Given the description of an element on the screen output the (x, y) to click on. 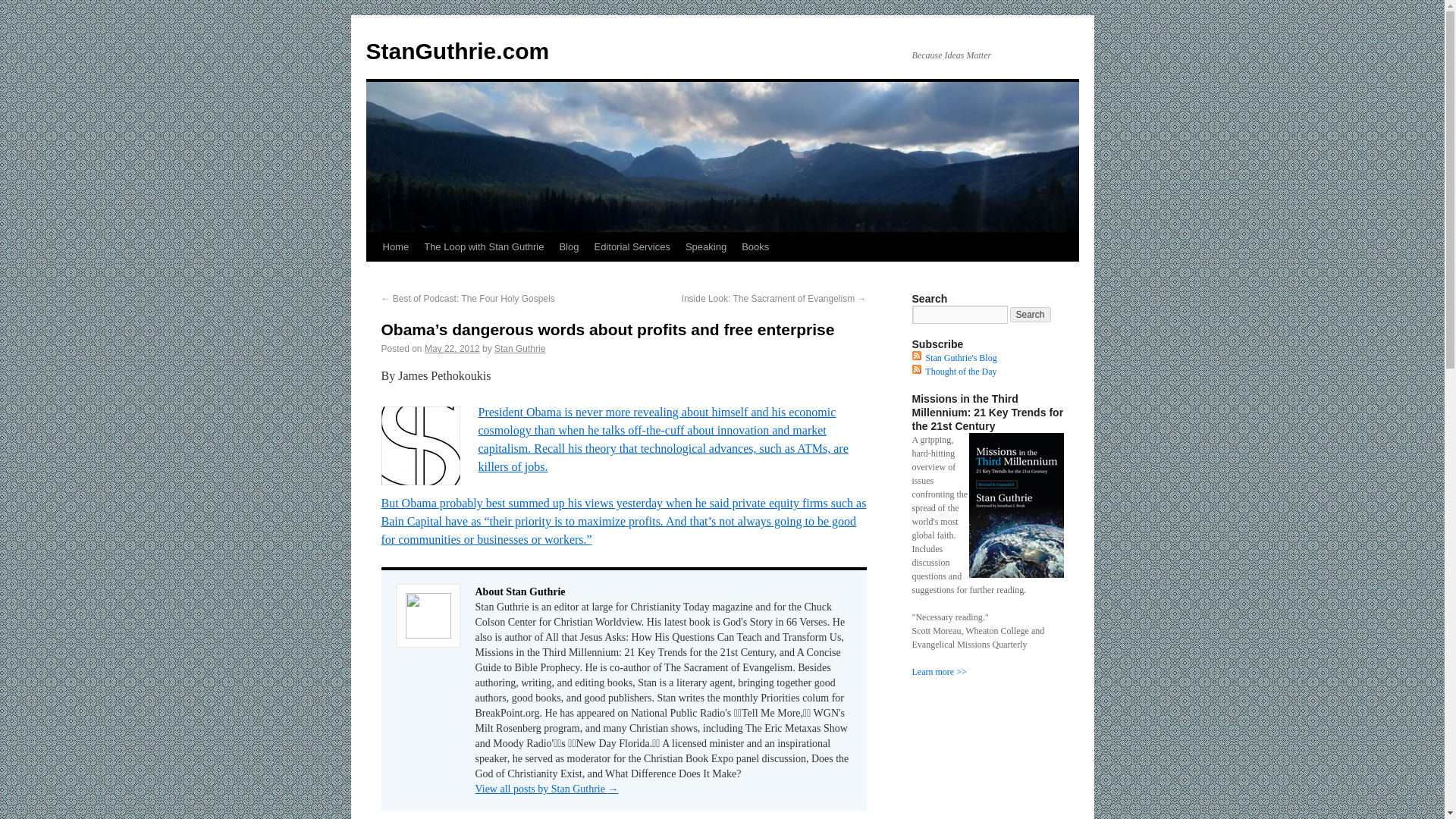
Stan Guthrie (519, 348)
Books (754, 246)
Editorial Services (631, 246)
May 22, 2012 (452, 348)
Search (1030, 314)
Stan Guthrie's Blog (959, 357)
Search (1030, 314)
1:32 pm (452, 348)
Home (395, 246)
